Given the description of an element on the screen output the (x, y) to click on. 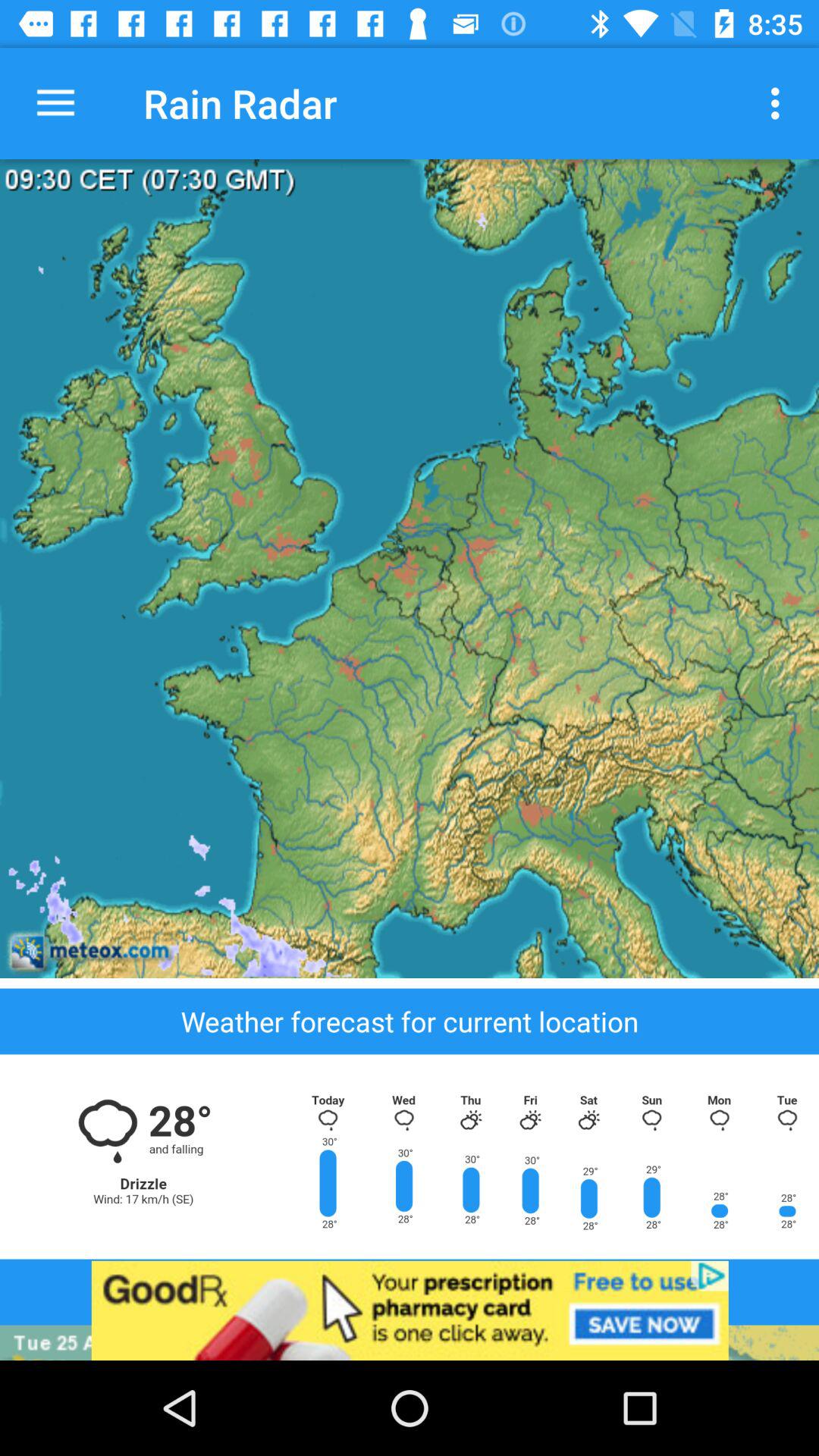
world map (409, 568)
